Given the description of an element on the screen output the (x, y) to click on. 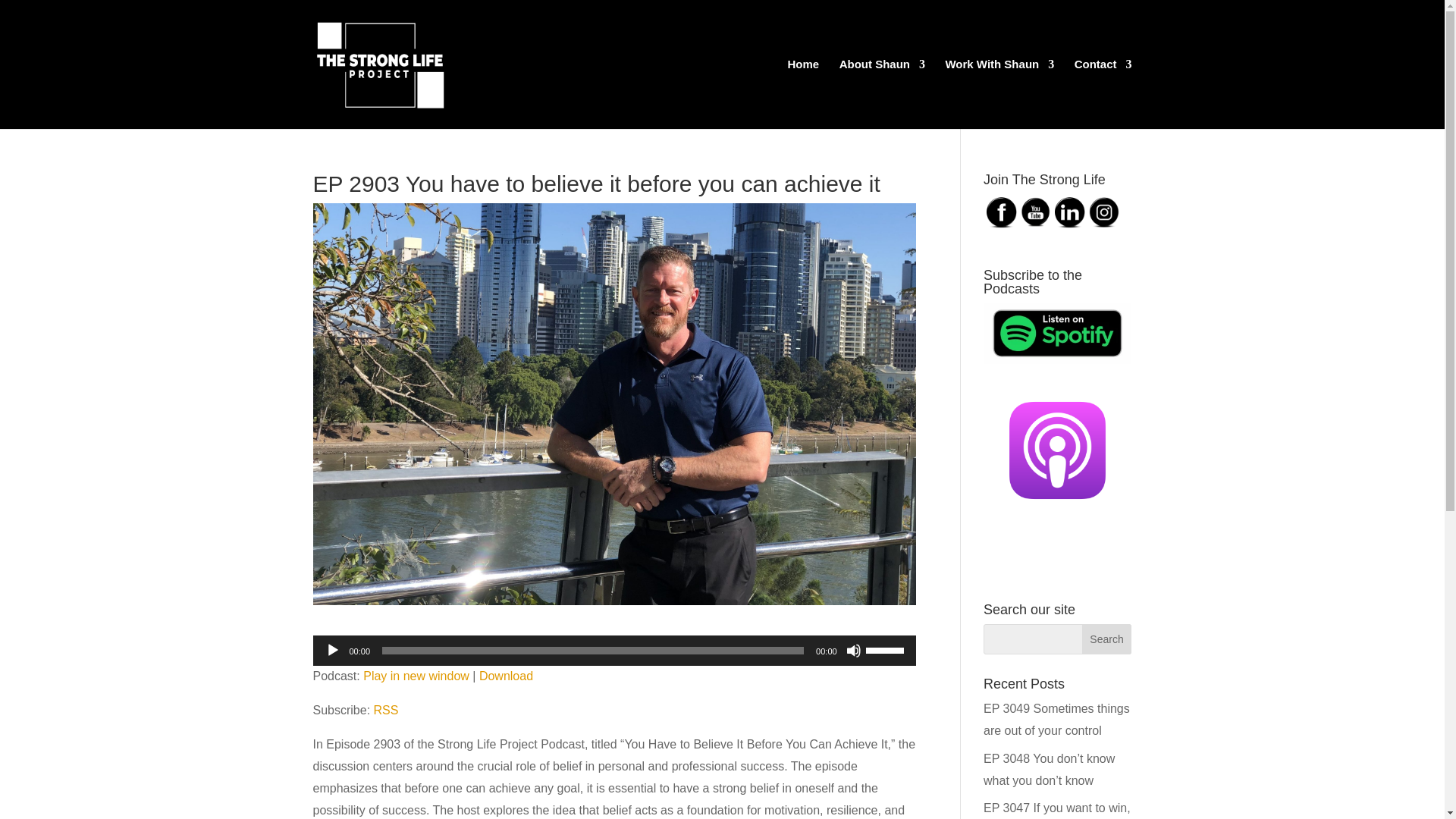
Facebook (1001, 212)
LinkedIn (1069, 212)
Work With Shaun (999, 93)
Mute (853, 650)
Subscribe via RSS (386, 709)
Search (1106, 639)
About Shaun (882, 93)
Play (331, 650)
Play in new window (415, 675)
RSS (386, 709)
Play in new window (415, 675)
Download (505, 675)
Download (505, 675)
Instagram (1104, 212)
